Given the description of an element on the screen output the (x, y) to click on. 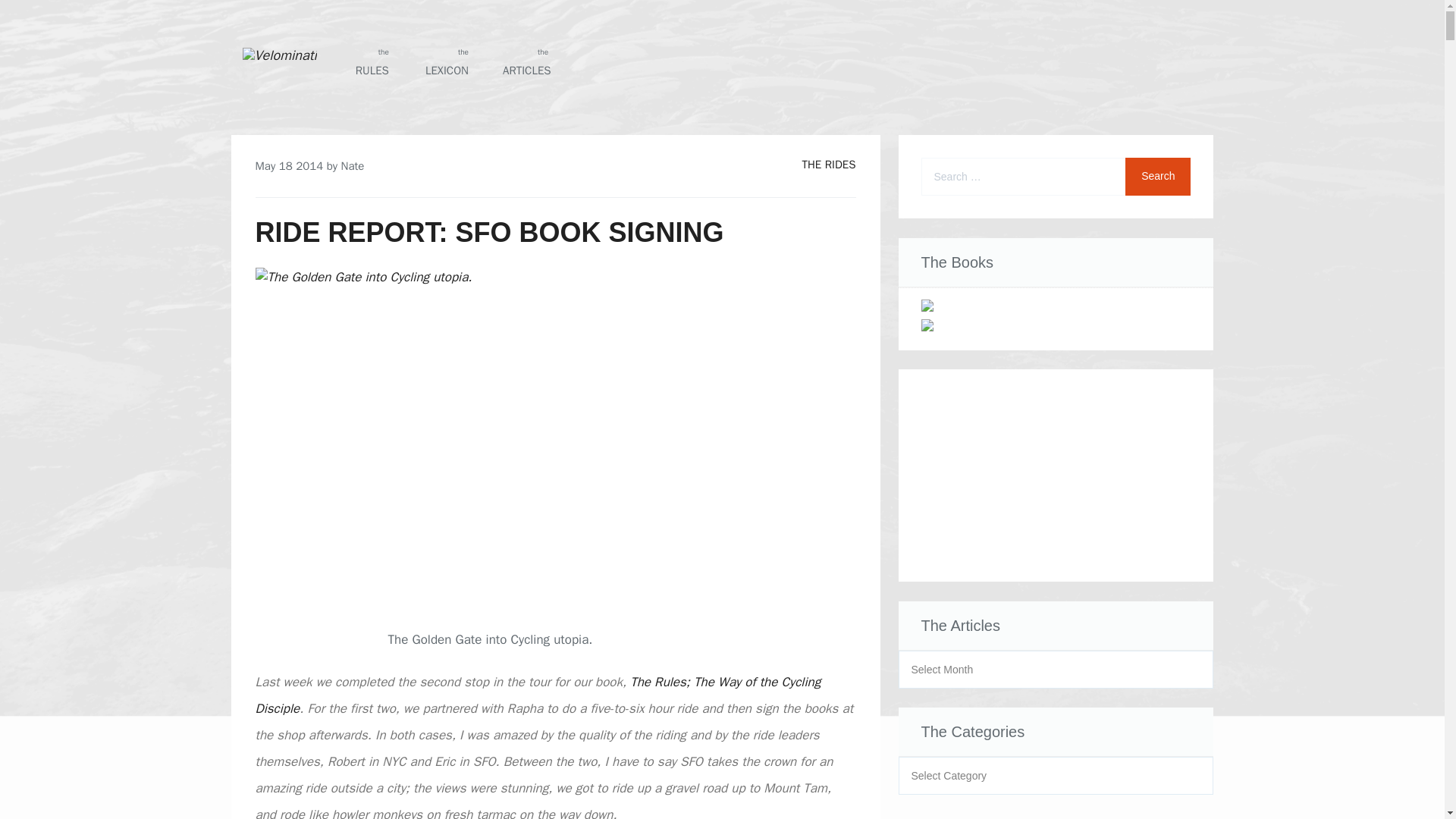
Search (1158, 176)
Search (1158, 176)
May 18 2014 (366, 61)
The Articles (445, 61)
Nate (288, 165)
THE RIDES (525, 61)
Post Single (525, 61)
